Given the description of an element on the screen output the (x, y) to click on. 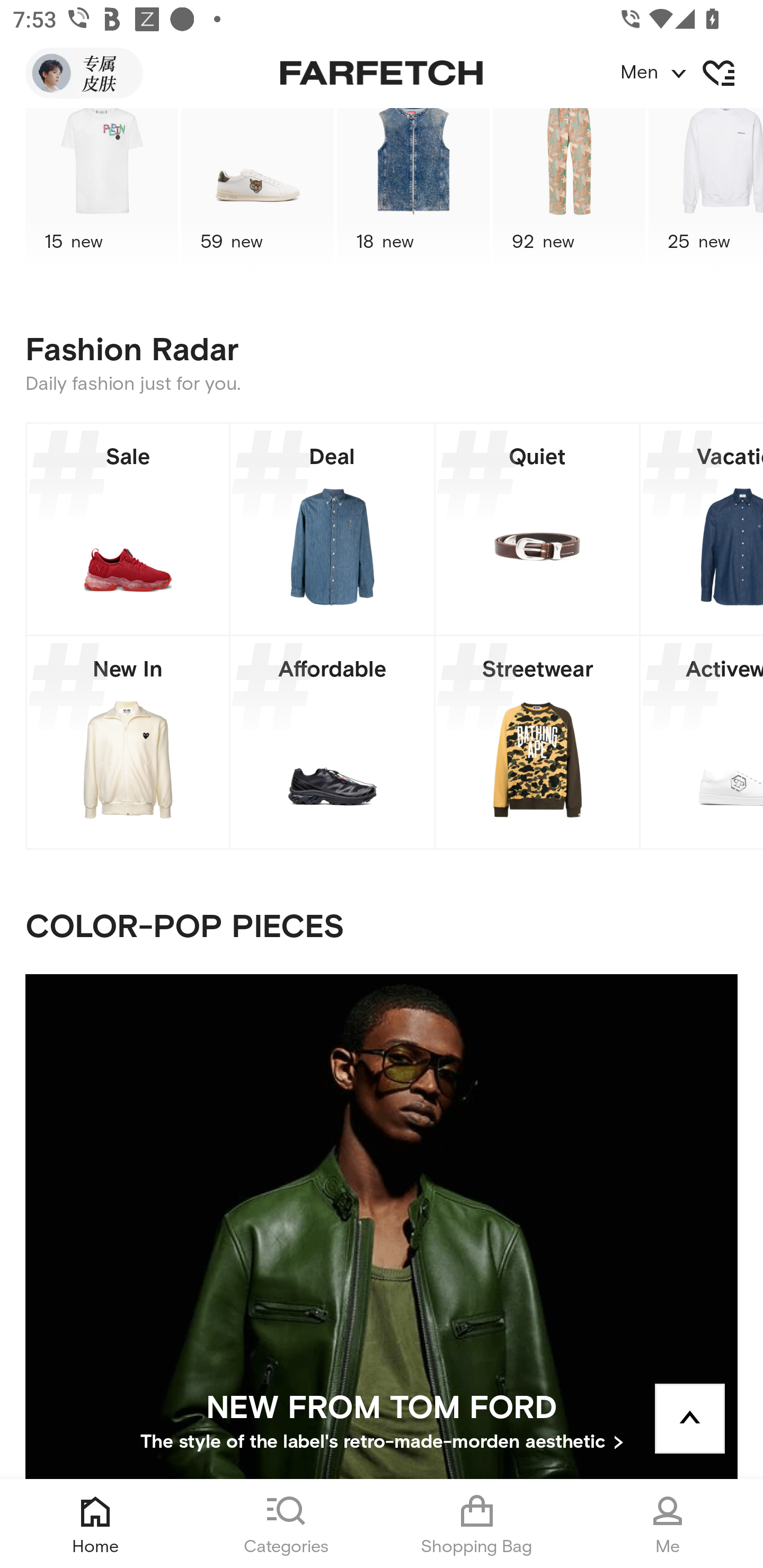
Men (691, 72)
Philipp Plein 15  new (101, 190)
Polo Ralph Lauren 59  new (257, 190)
Diesel 18  new (413, 190)
Acne Studios 92  new (568, 190)
Stone Island 25  new (705, 190)
Sale (127, 529)
Deal (332, 529)
Quiet (537, 529)
Vacation (701, 529)
New In (127, 742)
Affordable (332, 742)
Streetwear (537, 742)
Activewear (701, 742)
Categories (285, 1523)
Shopping Bag (476, 1523)
Me (667, 1523)
